Given the description of an element on the screen output the (x, y) to click on. 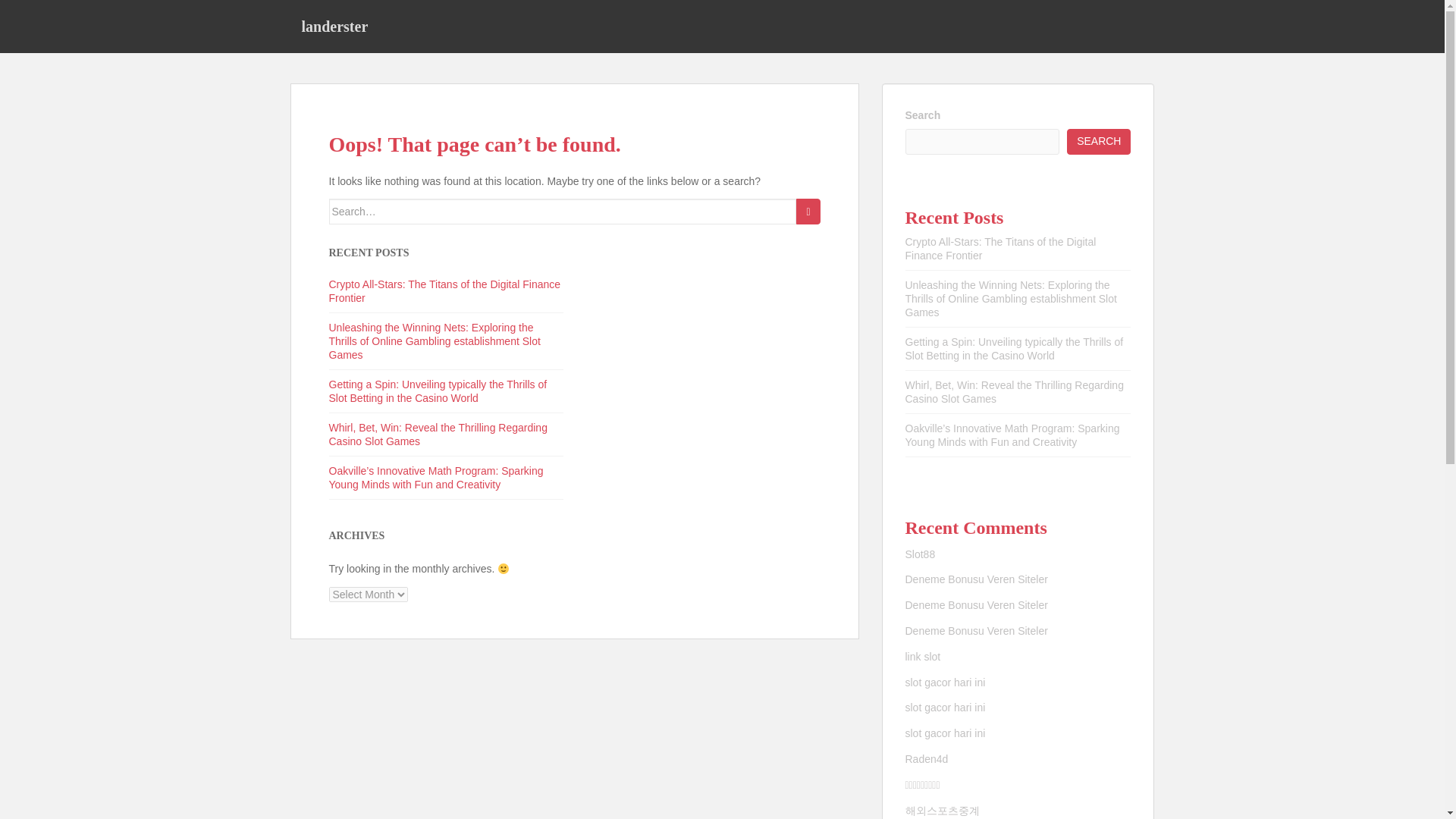
landerster (333, 26)
landerster (333, 26)
slot gacor hari ini  (946, 733)
Search (807, 211)
Crypto All-Stars: The Titans of the Digital Finance Frontier (1000, 248)
SEARCH (1099, 141)
